Given the description of an element on the screen output the (x, y) to click on. 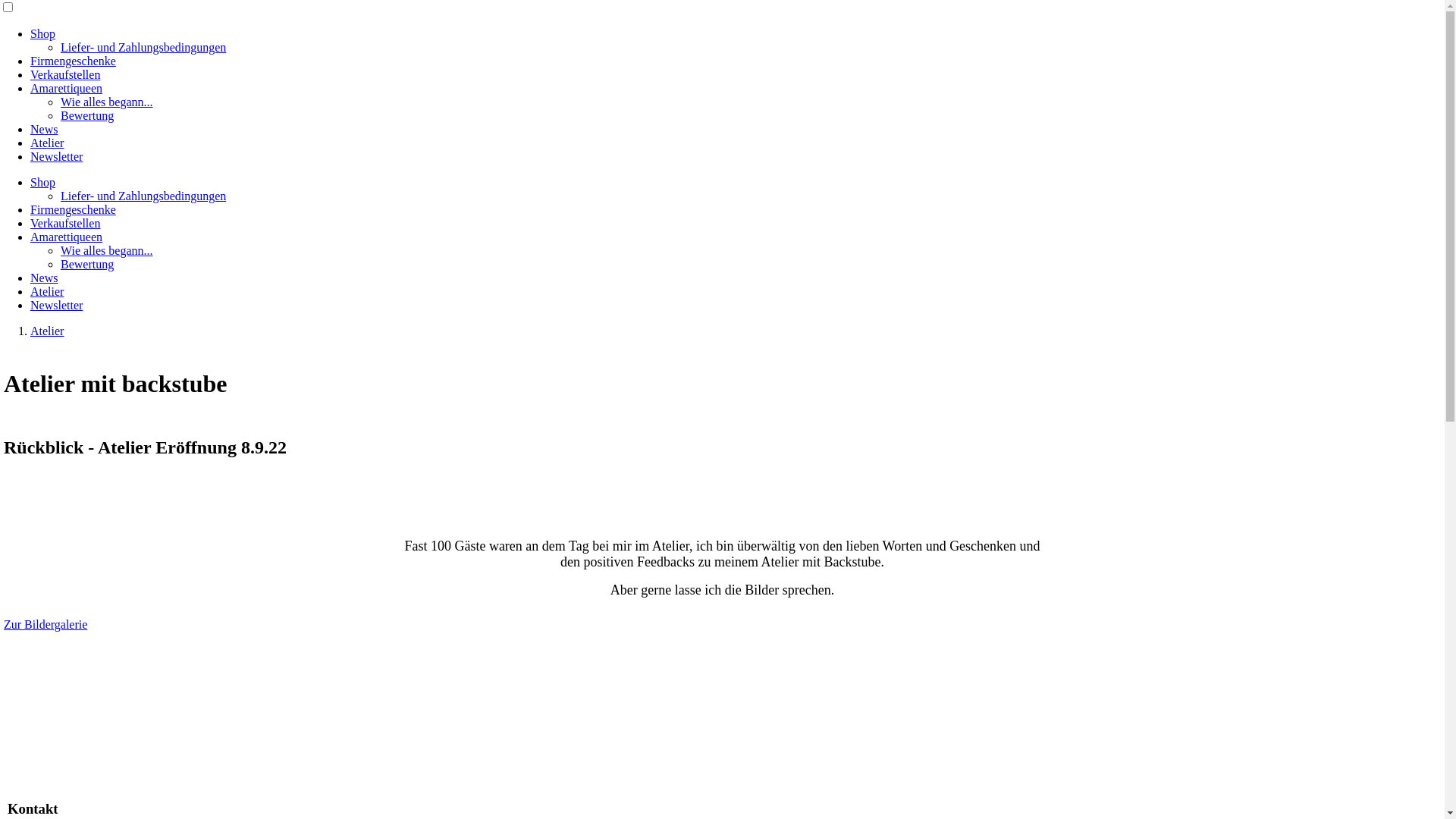
Atelier Element type: text (46, 291)
Zur Bildergalerie Element type: text (45, 624)
Firmengeschenke Element type: text (73, 209)
Amarettiqueen Element type: text (66, 236)
Verkaufstellen Element type: text (65, 222)
Firmengeschenke Element type: text (73, 60)
Verkaufstellen Element type: text (65, 74)
Bewertung Element type: text (86, 263)
Shop Element type: text (42, 181)
Shop Element type: text (42, 33)
Atelier Element type: text (46, 330)
Newsletter Element type: text (56, 304)
Bewertung Element type: text (86, 115)
Wie alles begann... Element type: text (106, 101)
News Element type: text (43, 128)
Wie alles begann... Element type: text (106, 250)
Liefer- und Zahlungsbedingungen Element type: text (142, 46)
Newsletter Element type: text (56, 156)
Atelier Element type: text (46, 142)
News Element type: text (43, 277)
Liefer- und Zahlungsbedingungen Element type: text (142, 195)
Amarettiqueen Element type: text (66, 87)
